Given the description of an element on the screen output the (x, y) to click on. 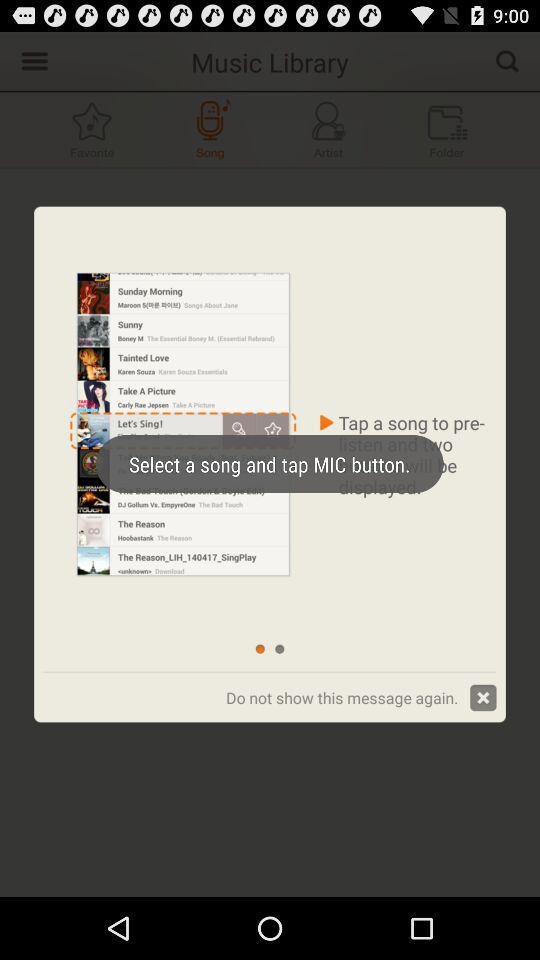
music button (328, 129)
